Given the description of an element on the screen output the (x, y) to click on. 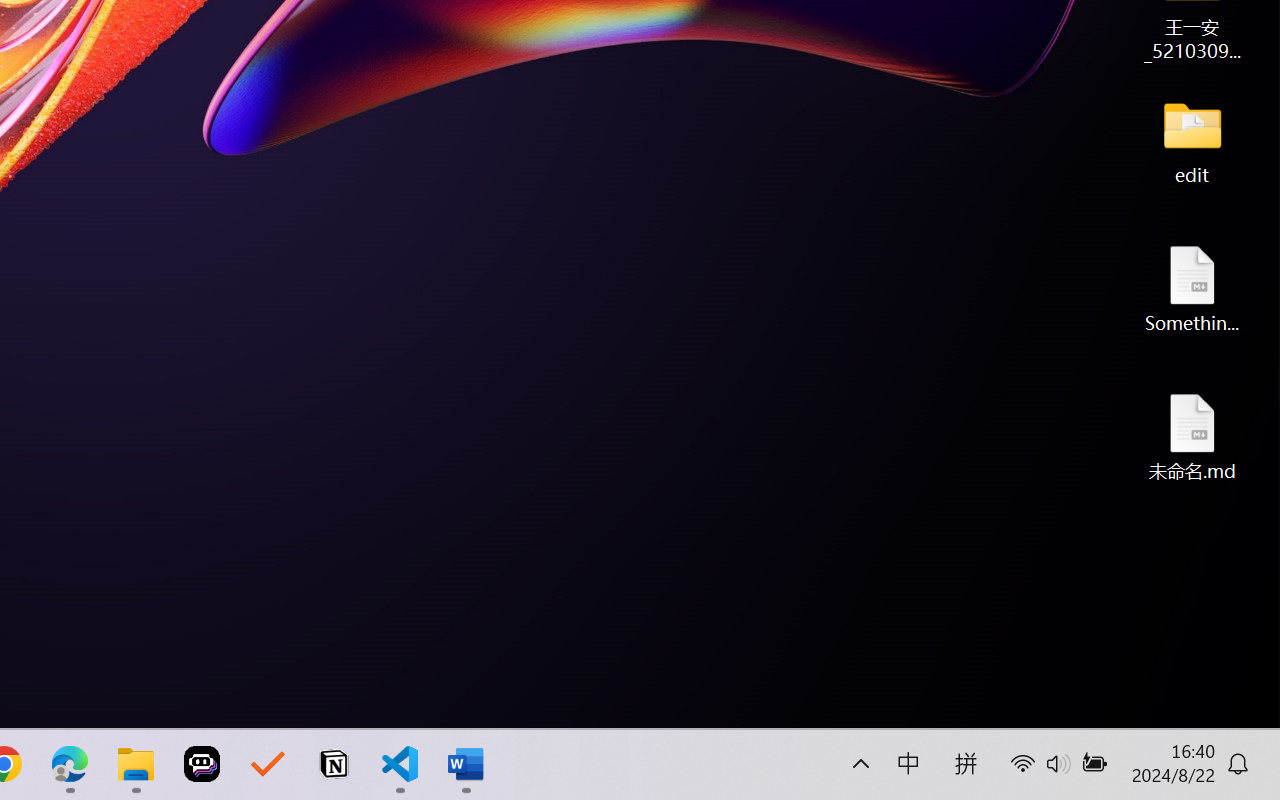
Notion (333, 764)
